Given the description of an element on the screen output the (x, y) to click on. 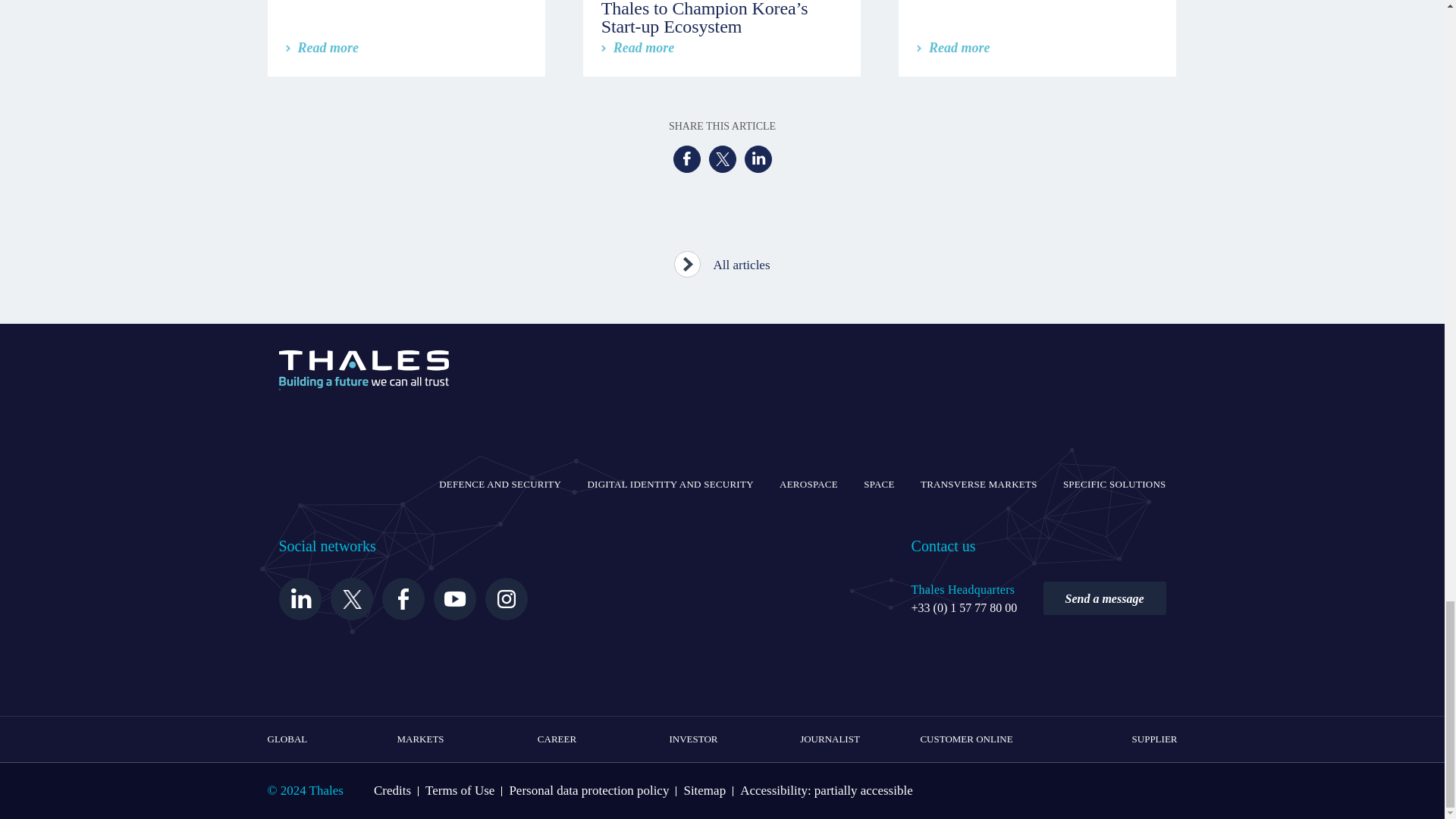
All articles (722, 260)
Read more (321, 47)
Read more (953, 47)
Read more (638, 47)
DEFENCE AND SECURITY (499, 484)
LinkedIn (757, 158)
Twitter (721, 158)
DIGITAL IDENTITY AND SECURITY (669, 484)
Accessibility level of this web site (825, 789)
Facebook (686, 158)
